Given the description of an element on the screen output the (x, y) to click on. 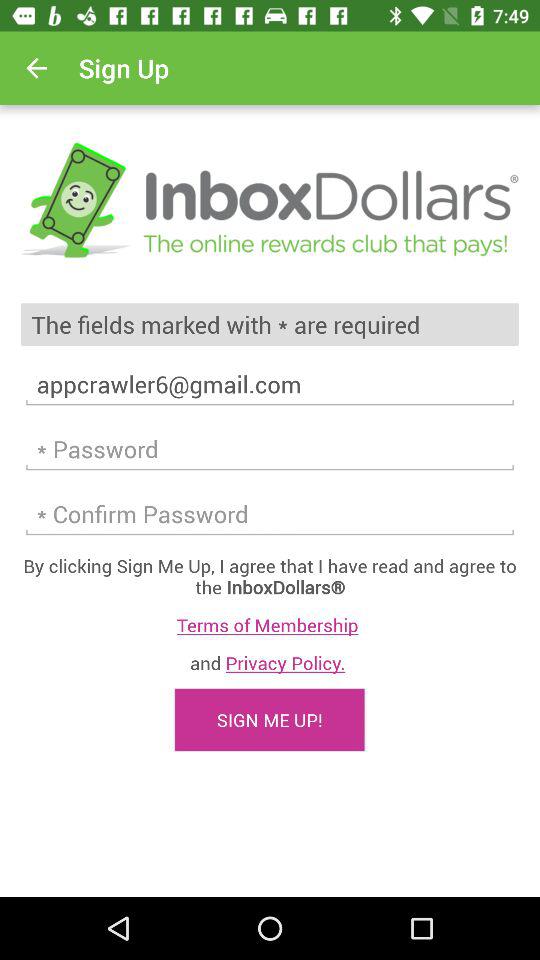
press icon below the fields marked icon (270, 384)
